Given the description of an element on the screen output the (x, y) to click on. 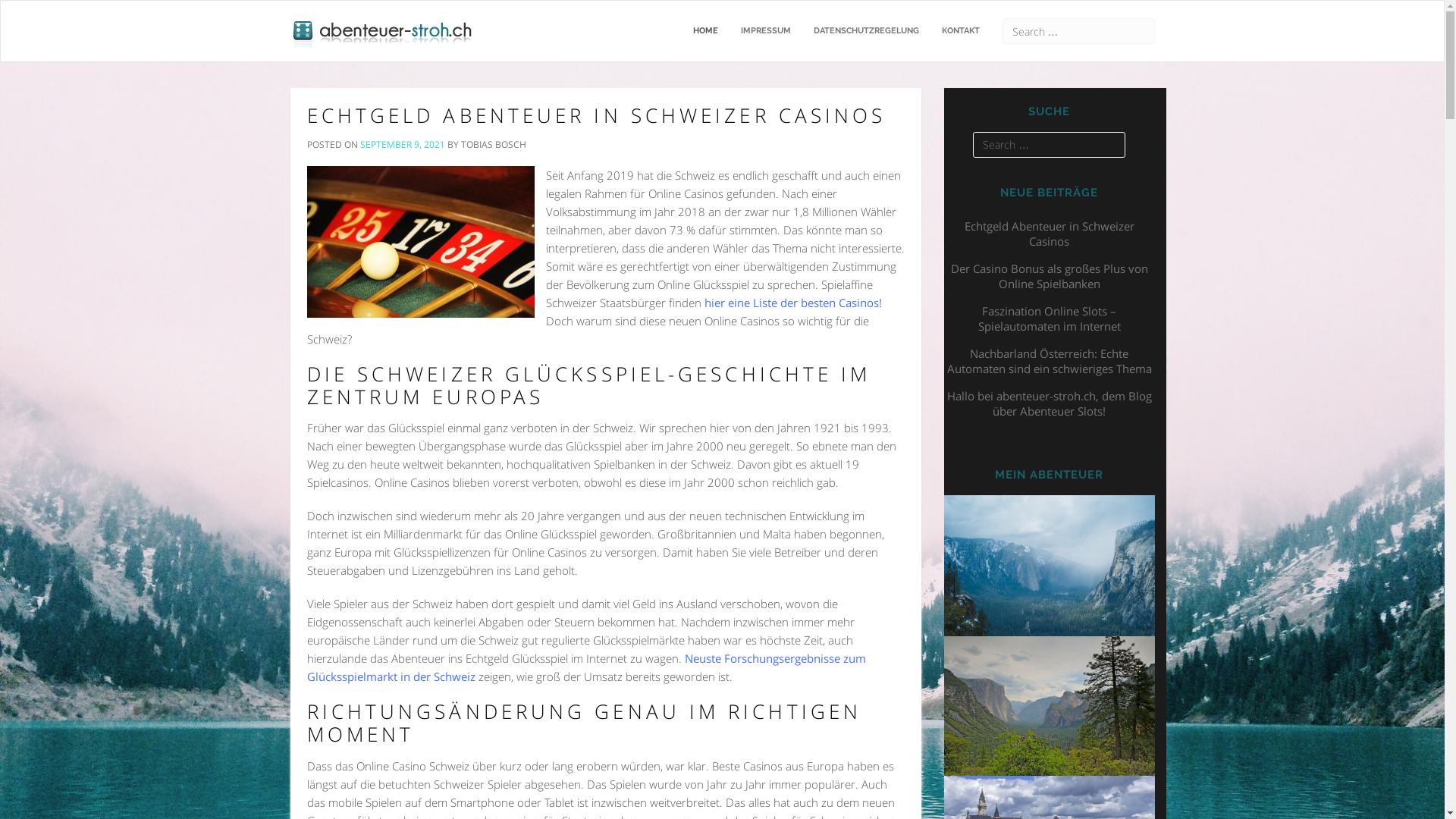
DATENSCHUTZREGELUNG Element type: text (866, 30)
IMPRESSUM Element type: text (765, 30)
HOME Element type: text (704, 30)
Search for: Element type: hover (1048, 144)
KONTAKT Element type: text (959, 30)
Echtgeld Abenteuer in Schweizer Casinos Element type: text (1049, 233)
abenteuer-stroh.ch Element type: hover (383, 19)
Search for: Element type: hover (1078, 30)
Search Element type: text (18, 9)
ECHTGELD ABENTEUER IN SCHWEIZER CASINOS Element type: text (595, 115)
hier eine Liste der besten Casinos! Element type: text (792, 302)
Search Element type: text (20, 8)
